Given the description of an element on the screen output the (x, y) to click on. 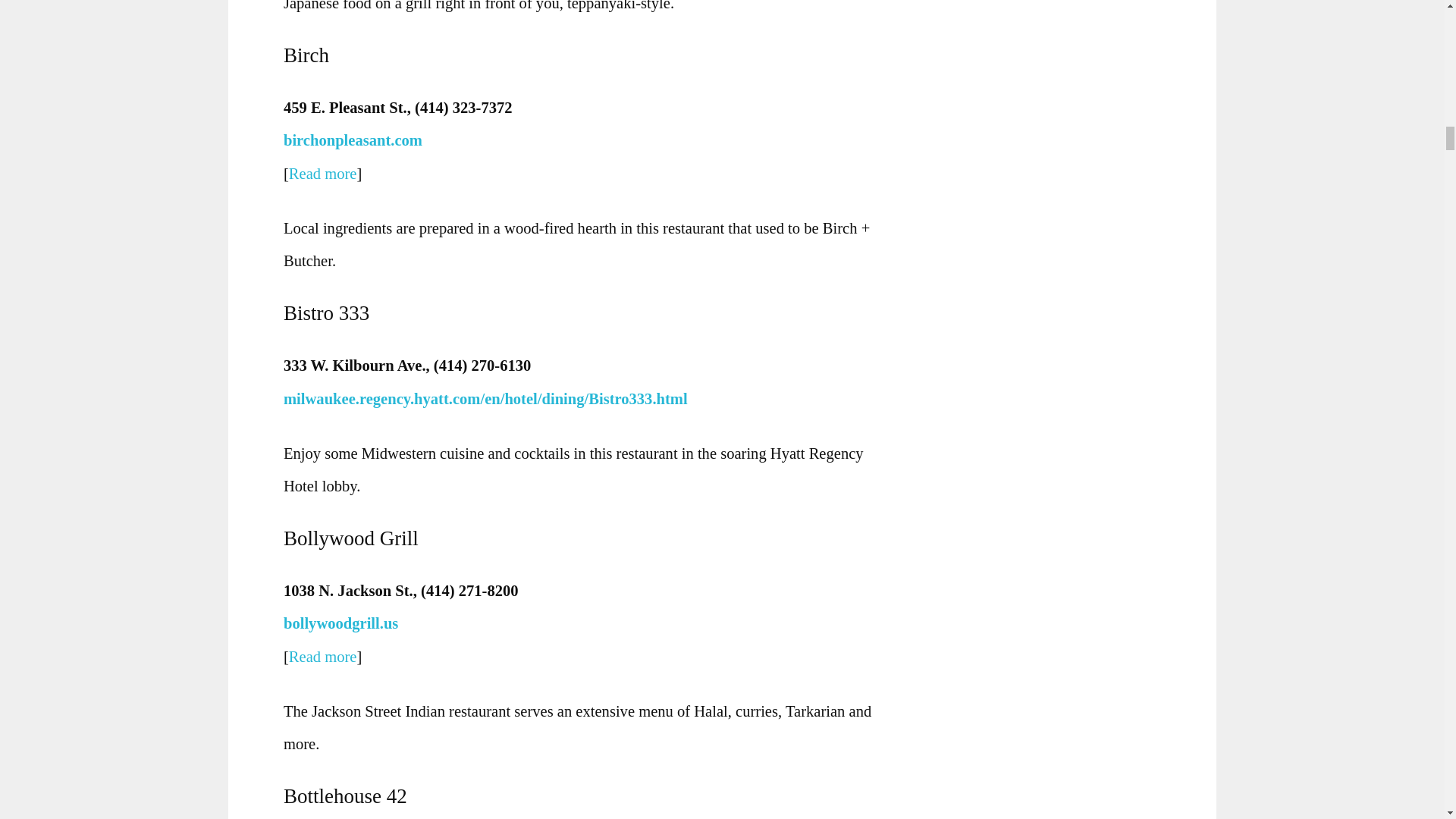
birchonpleasant.com (352, 139)
